Given the description of an element on the screen output the (x, y) to click on. 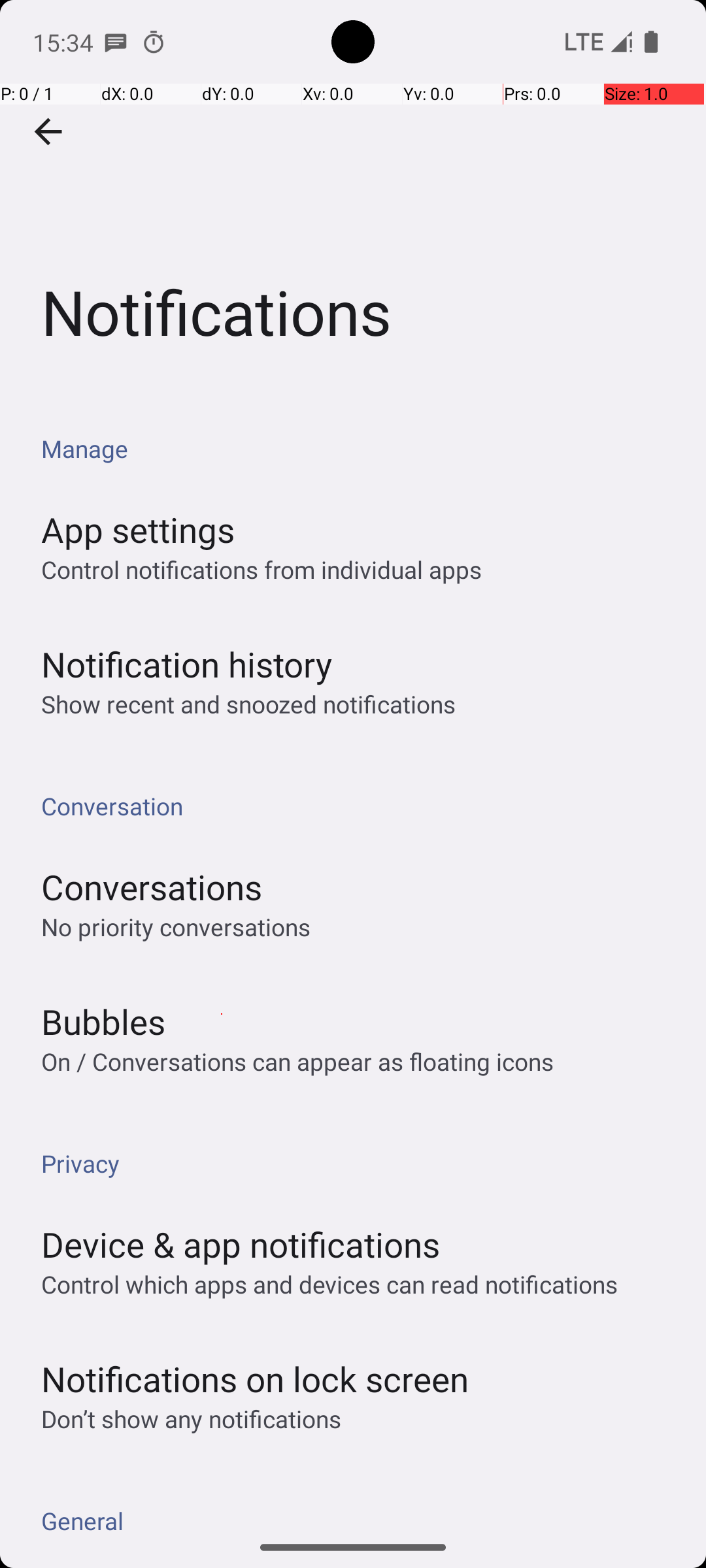
Don’t show any notifications Element type: android.widget.TextView (191, 1418)
